Given the description of an element on the screen output the (x, y) to click on. 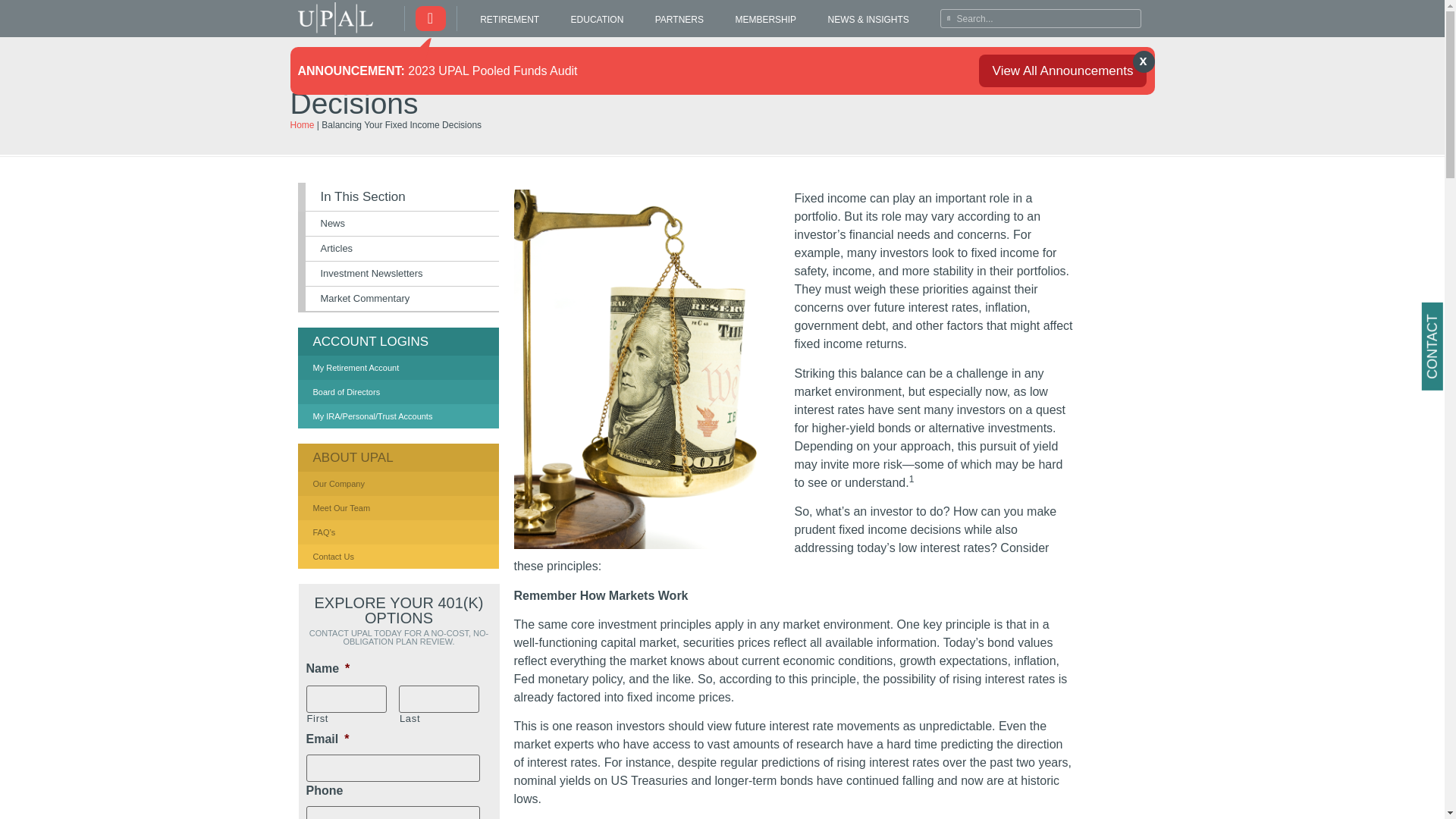
RETIREMENT (509, 19)
EDUCATION (596, 19)
PARTNERS (679, 19)
2023 UPAL Pooled Funds Audit (491, 69)
MEMBERSHIP (765, 19)
